Given the description of an element on the screen output the (x, y) to click on. 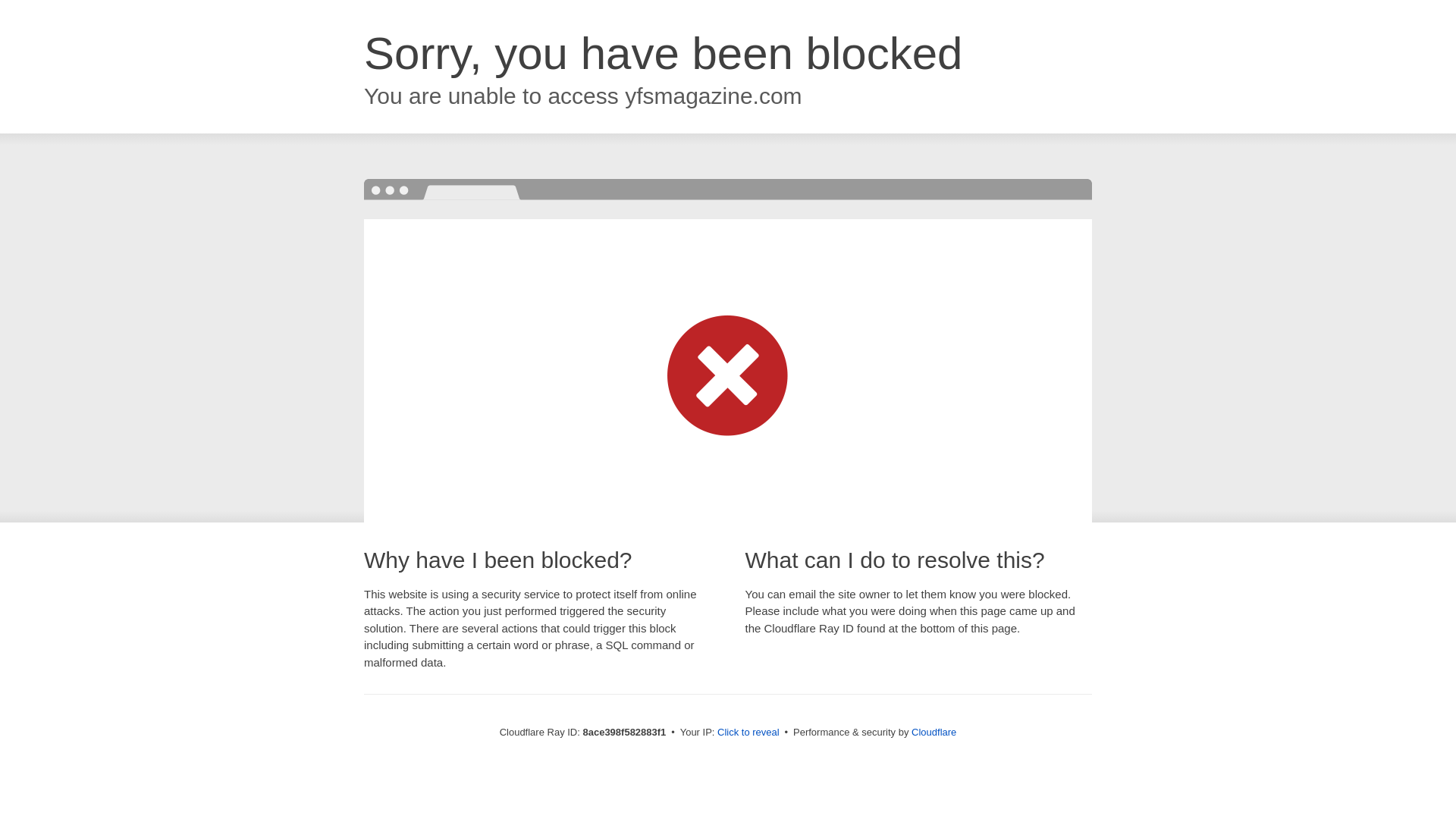
Click to reveal (747, 732)
Cloudflare (933, 731)
